Given the description of an element on the screen output the (x, y) to click on. 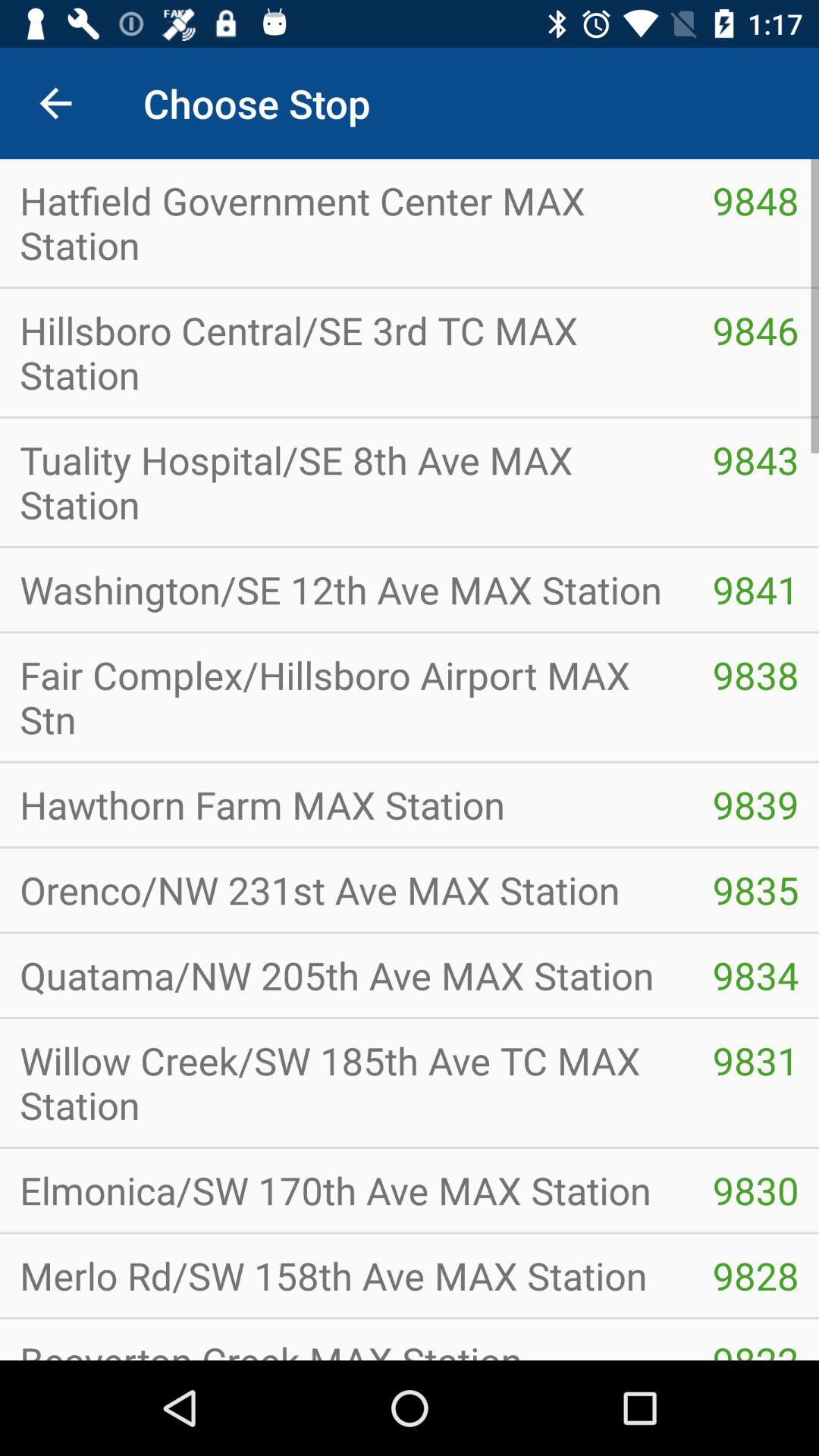
click the icon next to the 9839 (346, 804)
